Given the description of an element on the screen output the (x, y) to click on. 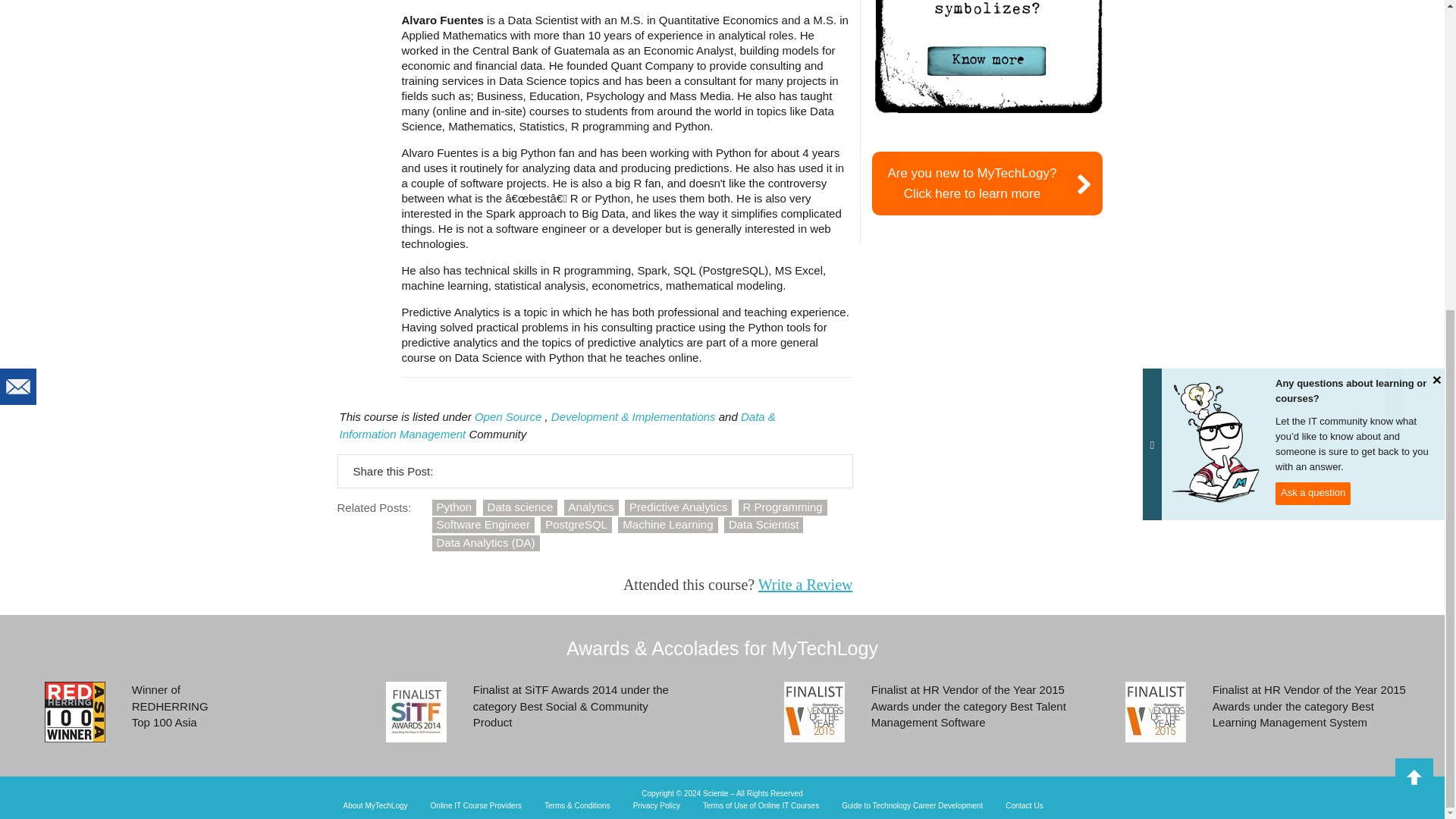
PostgreSQL (575, 524)
Privacy Policy (656, 805)
R Programming (782, 507)
Data science (520, 507)
Predictive Analytics (678, 507)
Guide to Technology Career Development (911, 805)
About MyTechLogy (374, 805)
Analytics (591, 507)
Open Source (507, 416)
Software Engineer (483, 524)
Online IT Course Providers (475, 805)
Winner of REDHERRING Top 100 Asia (74, 711)
Machine Learning (667, 524)
Terms of Use of Online IT Courses (760, 805)
Contact Us (1024, 805)
